Given the description of an element on the screen output the (x, y) to click on. 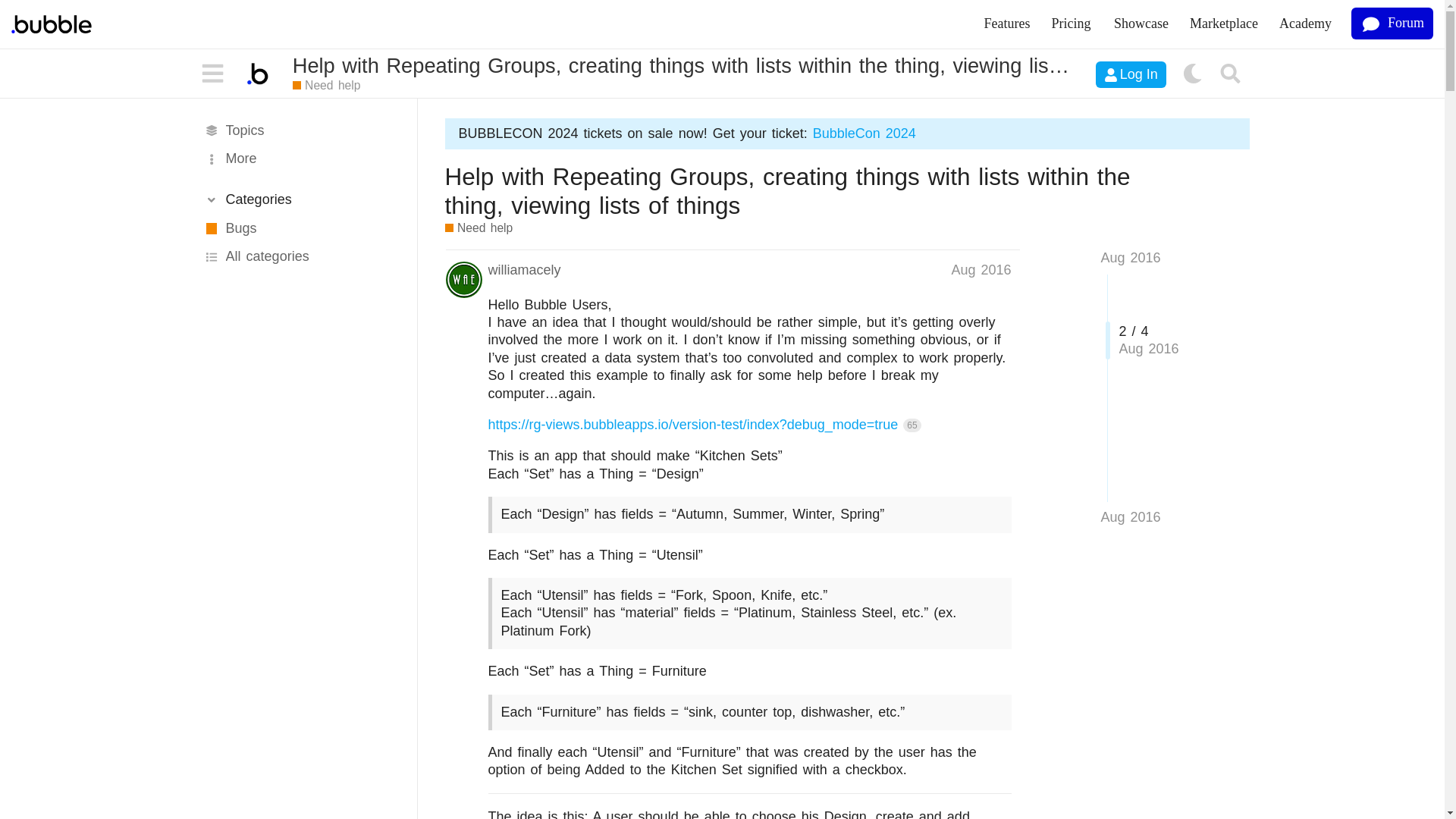
All categories (300, 256)
Post date (980, 269)
BubbleCon 2024 (863, 133)
All topics (300, 130)
Need help (326, 85)
Aug 2016 (1130, 257)
Aug 2016 (1130, 517)
Log In (1131, 74)
Categories (300, 199)
Features (1007, 24)
Showcase (1141, 24)
Aug 2016 (980, 269)
Jump to the last post (1130, 516)
Sidebar (213, 73)
